Given the description of an element on the screen output the (x, y) to click on. 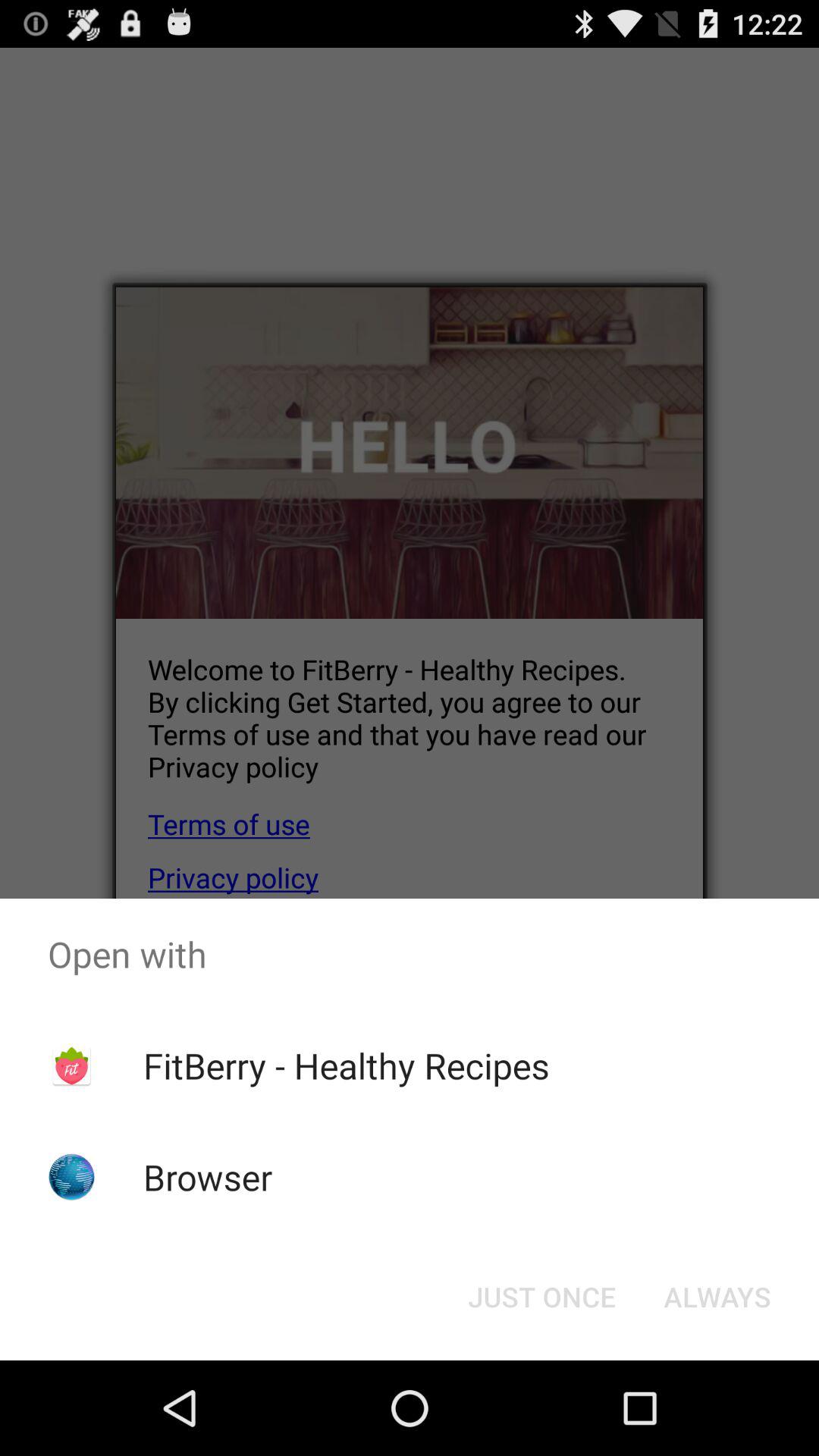
turn off just once icon (541, 1296)
